Given the description of an element on the screen output the (x, y) to click on. 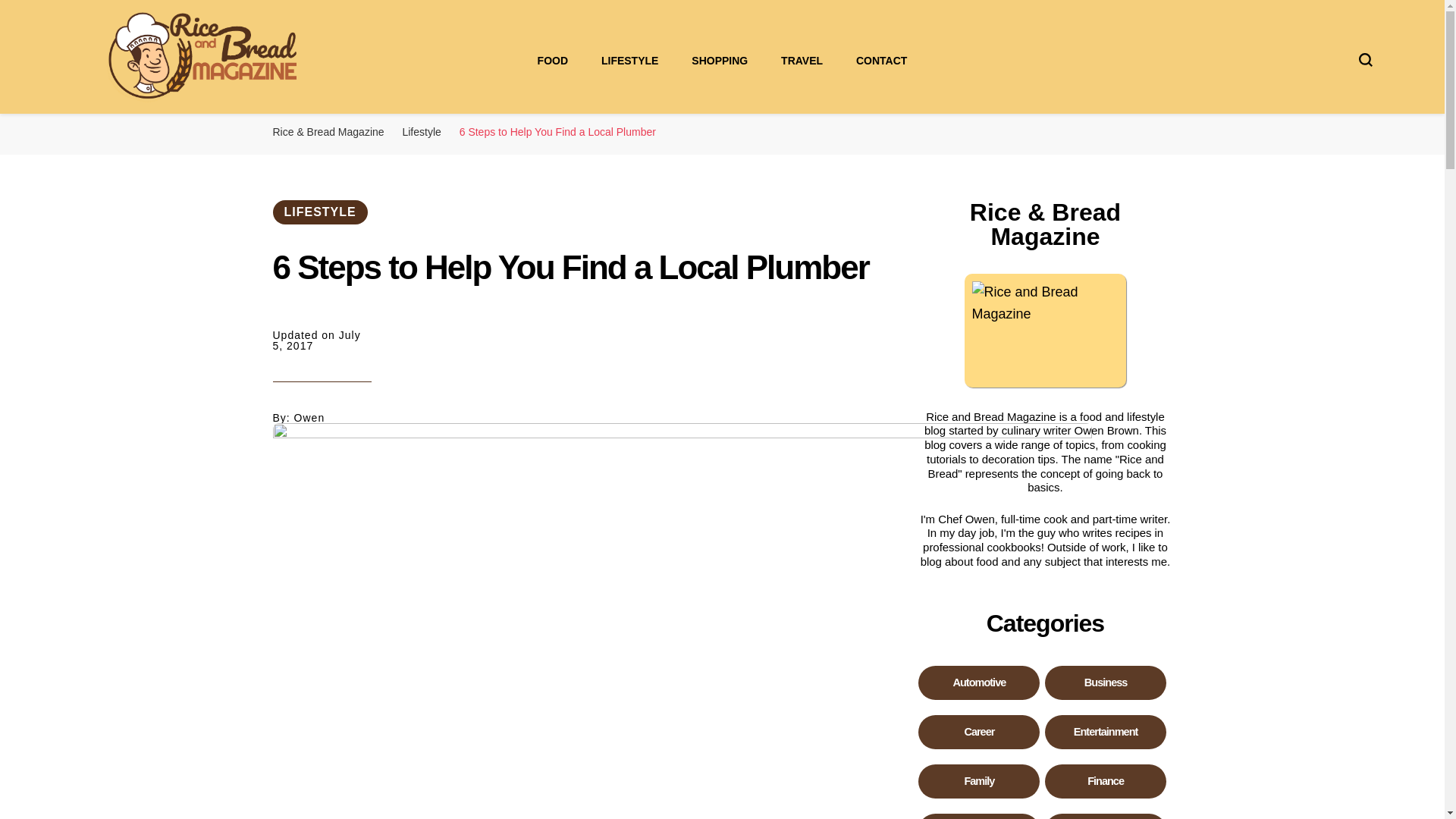
Family (978, 781)
July 5, 2017 (322, 376)
Entertainment (1105, 731)
Career (978, 731)
6 Steps to Help You Find a Local Plumber (558, 132)
FOOD (552, 60)
Automotive (978, 682)
TRAVEL (801, 60)
LIFESTYLE (320, 211)
SHOPPING (719, 60)
